Given the description of an element on the screen output the (x, y) to click on. 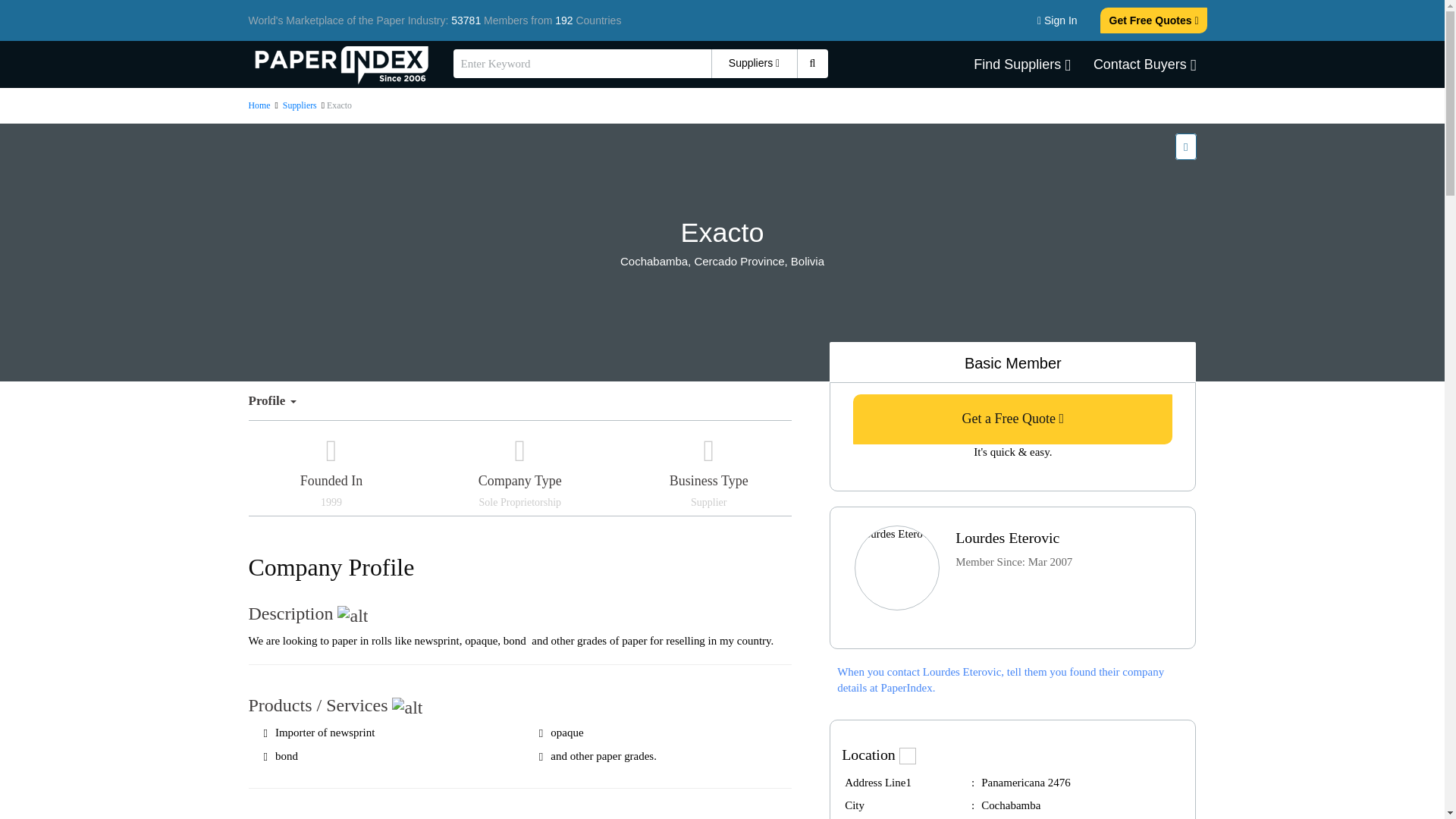
Profile (277, 401)
Home (260, 104)
Suppliers (299, 104)
Find Suppliers (1021, 63)
Contact Buyers (1144, 63)
 Sign In (1056, 20)
Exacto (722, 232)
Suppliers (754, 63)
Get Free Quotes (1154, 20)
